Given the description of an element on the screen output the (x, y) to click on. 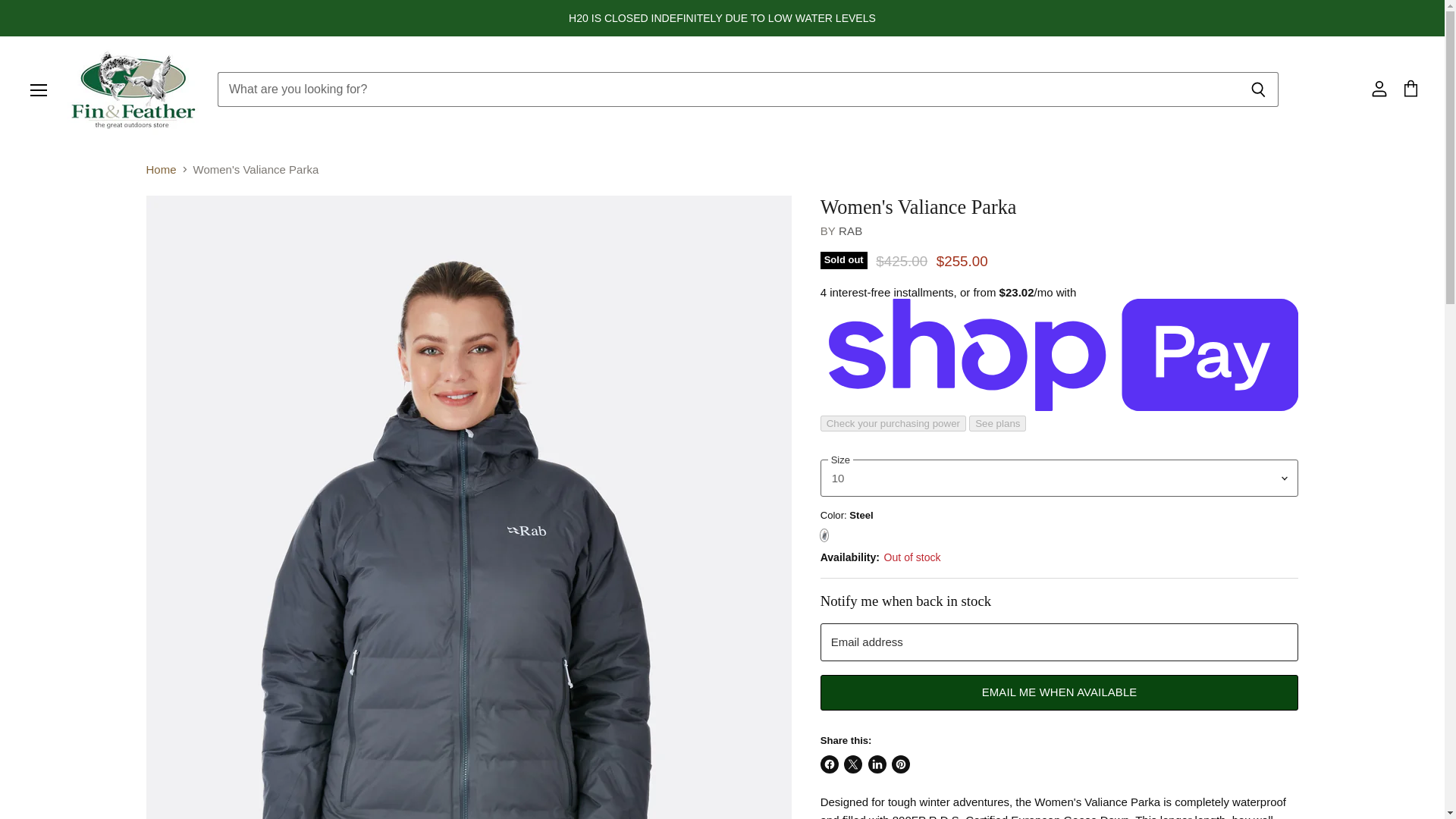
Rab (849, 230)
Menu (39, 89)
